Given the description of an element on the screen output the (x, y) to click on. 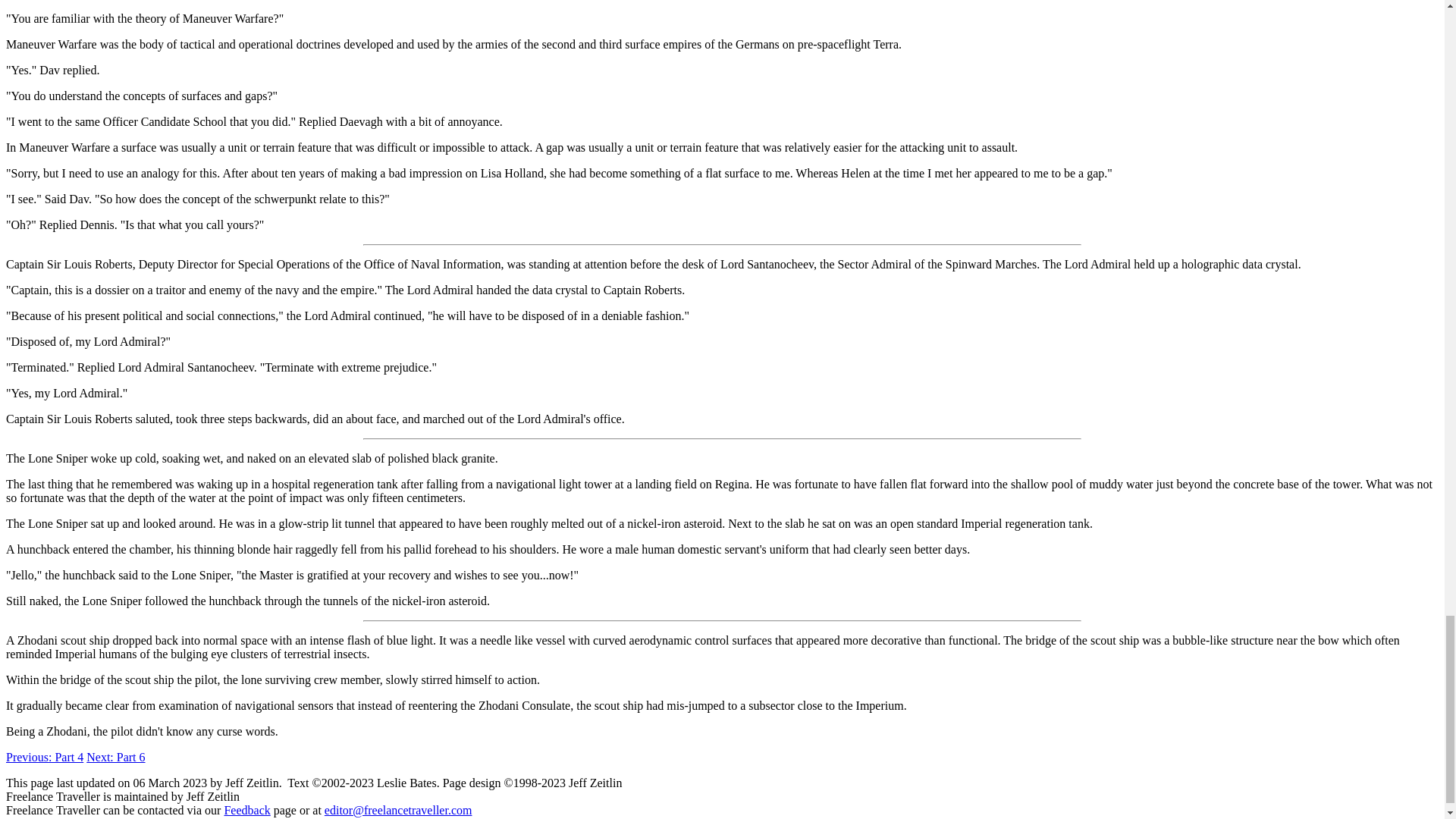
Previous: Part 4 (43, 757)
Next: Part 6 (114, 757)
Feedback (246, 809)
